Given the description of an element on the screen output the (x, y) to click on. 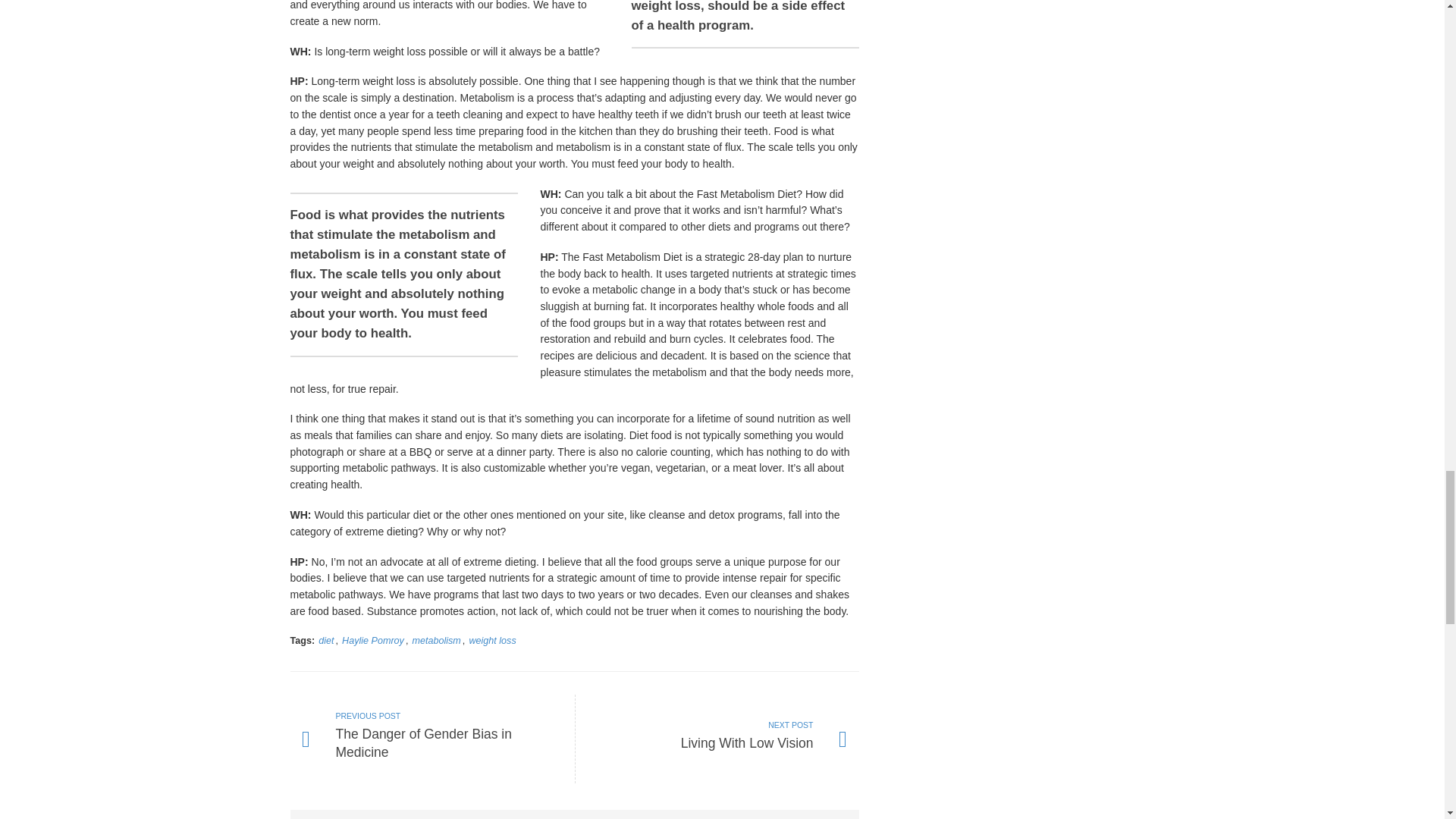
diet (325, 640)
weight loss (491, 640)
metabolism (431, 738)
Haylie Pomroy (717, 738)
